Given the description of an element on the screen output the (x, y) to click on. 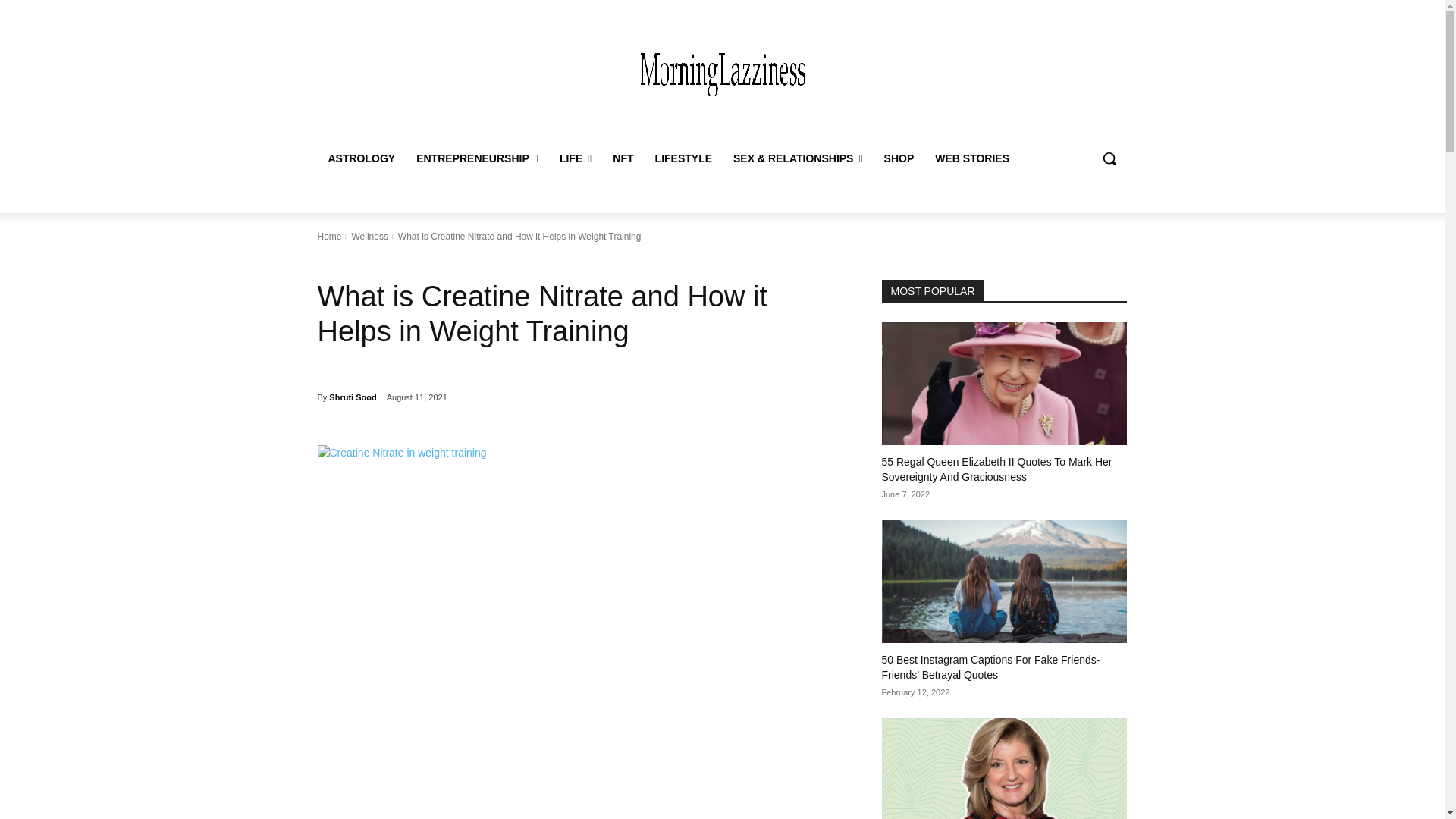
NFT (622, 158)
ASTROLOGY (361, 158)
ENTREPRENEURSHIP (477, 158)
View all posts in Wellness (368, 235)
SHOP (898, 158)
LIFE (575, 158)
WEB STORIES (972, 158)
LIFESTYLE (683, 158)
